Given the description of an element on the screen output the (x, y) to click on. 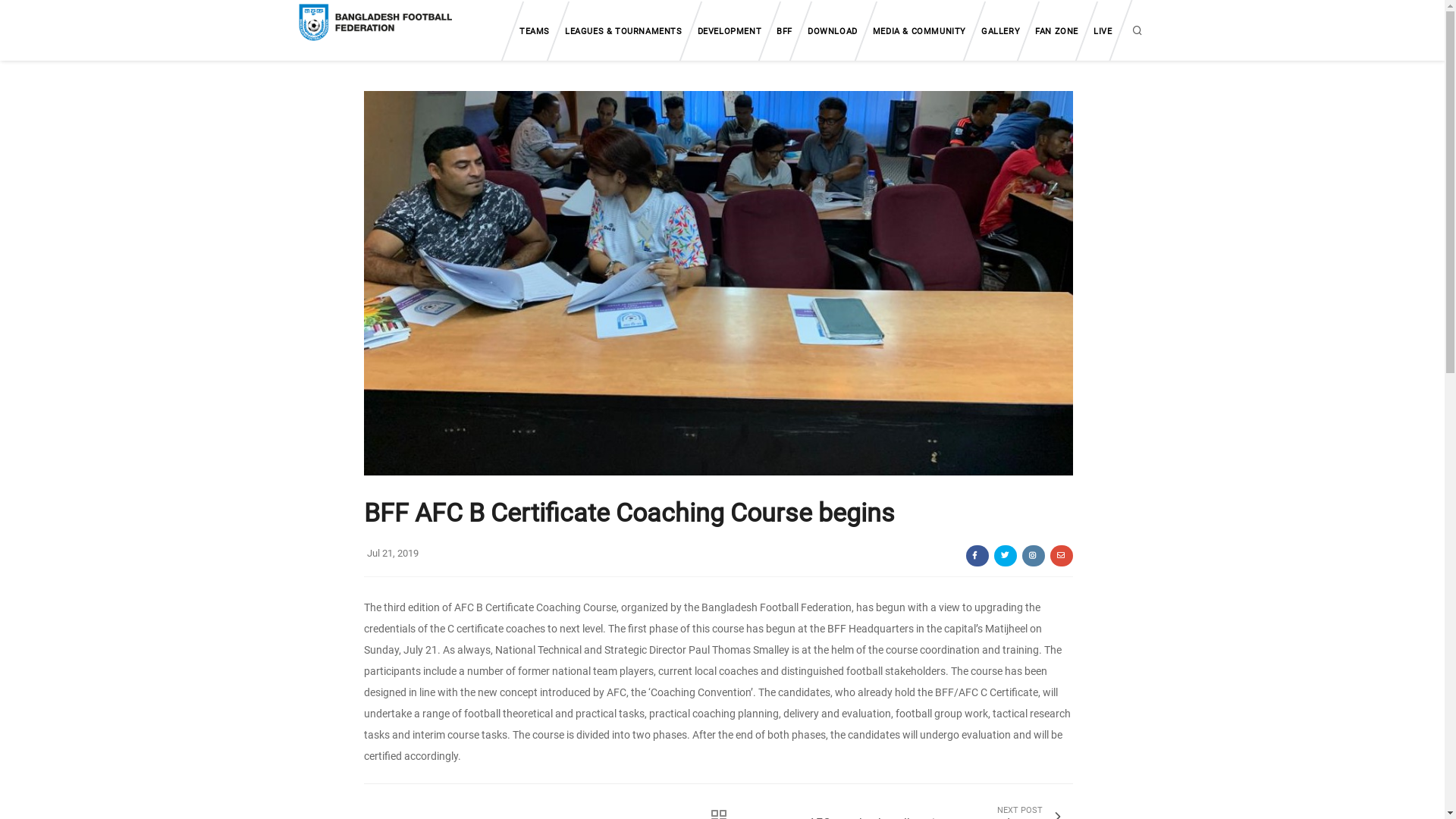
LEAGUES & TOURNAMENTS Element type: text (623, 30)
DEVELOPMENT Element type: text (729, 30)
DOWNLOAD Element type: text (832, 30)
LIVE Element type: text (1102, 30)
MEDIA & COMMUNITY Element type: text (919, 30)
FAN ZONE Element type: text (1056, 30)
BFF Element type: text (784, 30)
TEAMS Element type: text (534, 30)
GALLERY Element type: text (1000, 30)
